Given the description of an element on the screen output the (x, y) to click on. 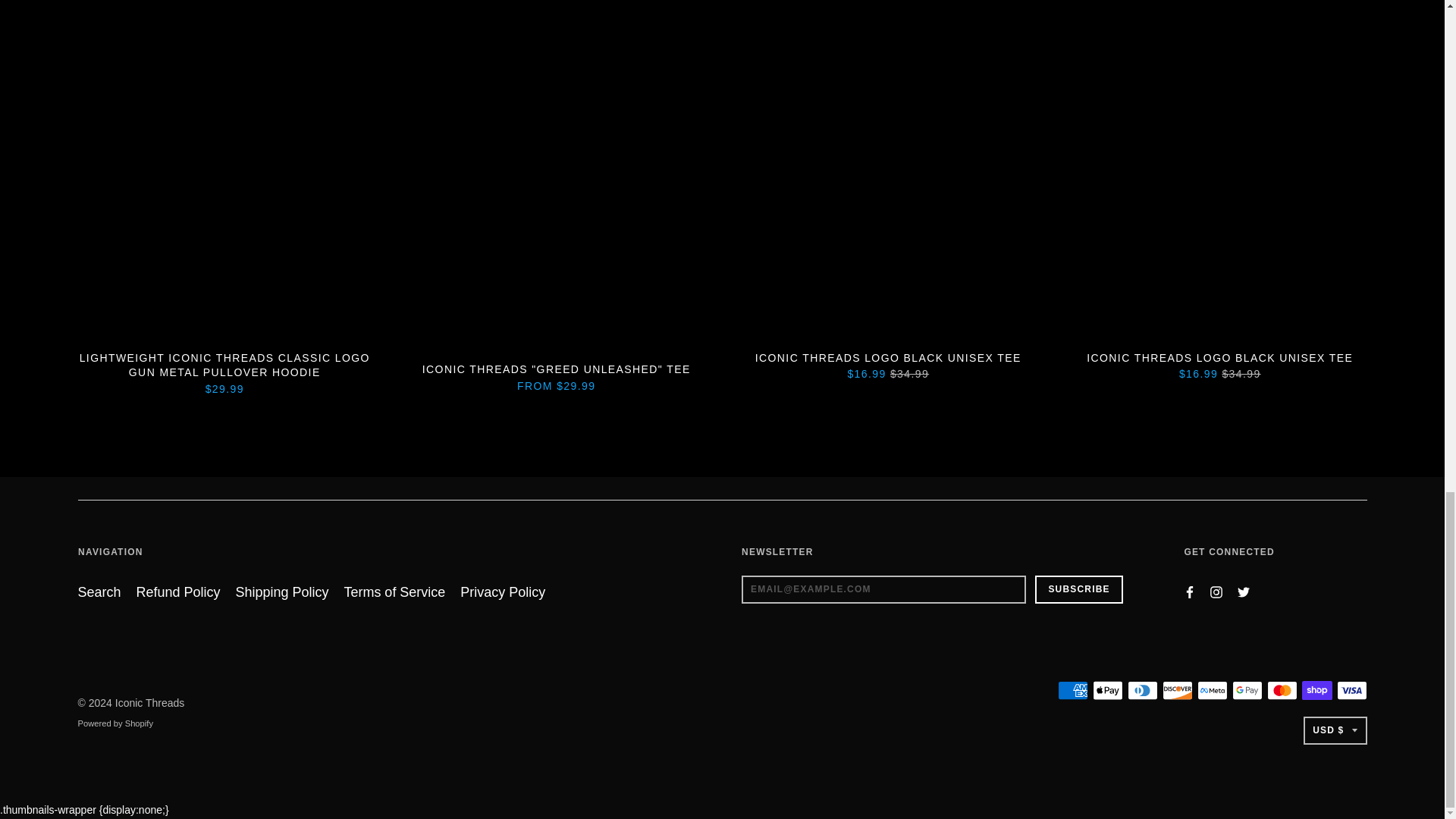
Iconic Threads on Facebook (1189, 590)
Iconic Threads on Instagram (1216, 590)
Iconic Threads on Twitter (1243, 590)
